Given the description of an element on the screen output the (x, y) to click on. 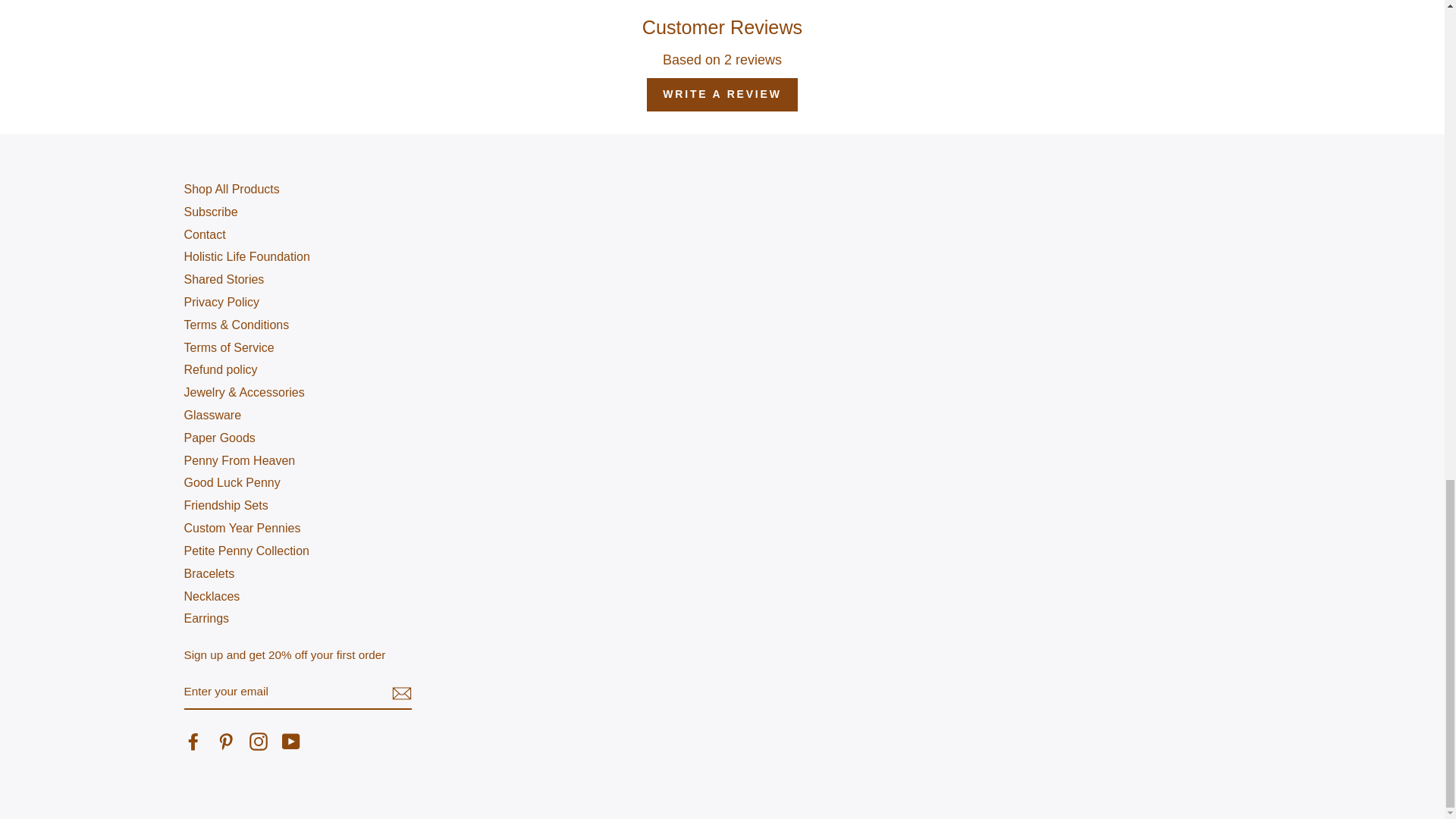
Studio Penny Lane on Pinterest (225, 741)
Studio Penny Lane on Instagram (257, 741)
Studio Penny Lane on YouTube (290, 741)
Studio Penny Lane on Facebook (192, 741)
